Given the description of an element on the screen output the (x, y) to click on. 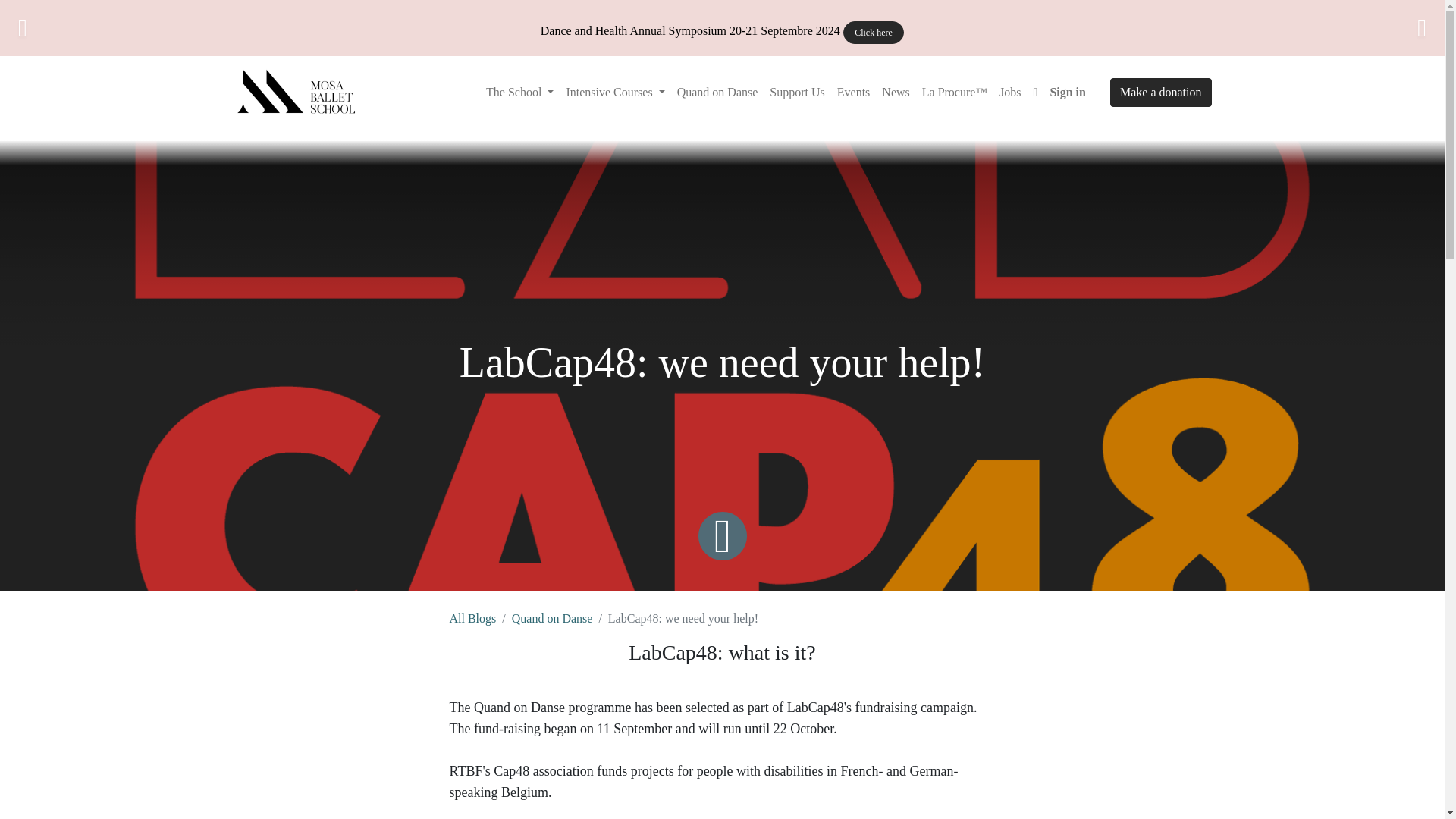
Click here (873, 32)
News (895, 91)
All Blogs (472, 617)
Events (853, 91)
Quand on Danse (717, 91)
Intensive Courses (614, 91)
Previous (57, 28)
Previous (57, 28)
Quand on Danse (552, 617)
Mosa Ballet School (298, 92)
